Given the description of an element on the screen output the (x, y) to click on. 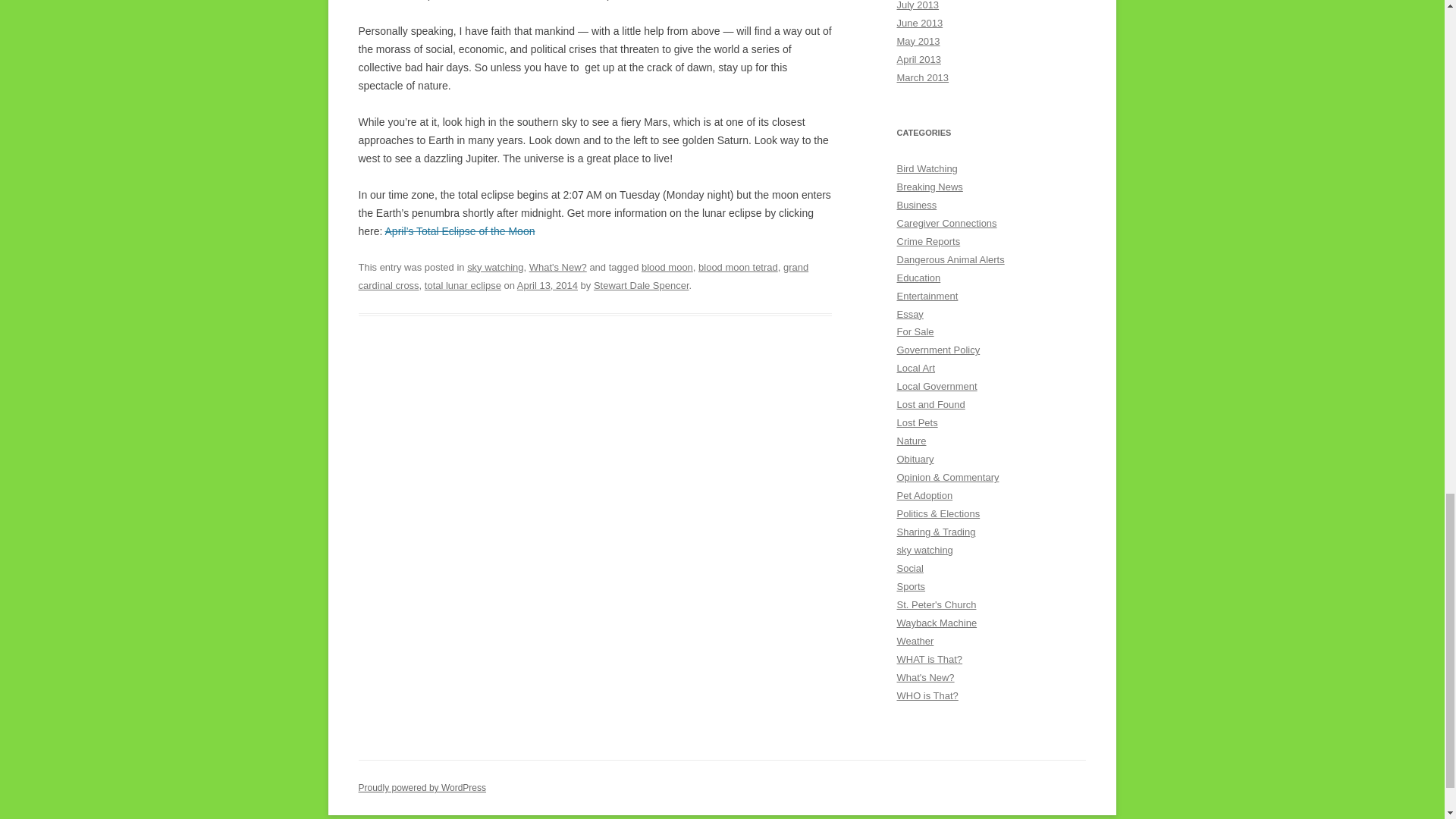
Stewart Dale Spencer (641, 285)
1:52 am (547, 285)
What's New? (557, 266)
View all posts by Stewart Dale Spencer (641, 285)
grand cardinal cross (583, 276)
sky watching (494, 266)
Semantic Personal Publishing Platform (422, 787)
total lunar eclipse (462, 285)
blood moon (667, 266)
April 13, 2014 (547, 285)
blood moon tetrad (737, 266)
